Given the description of an element on the screen output the (x, y) to click on. 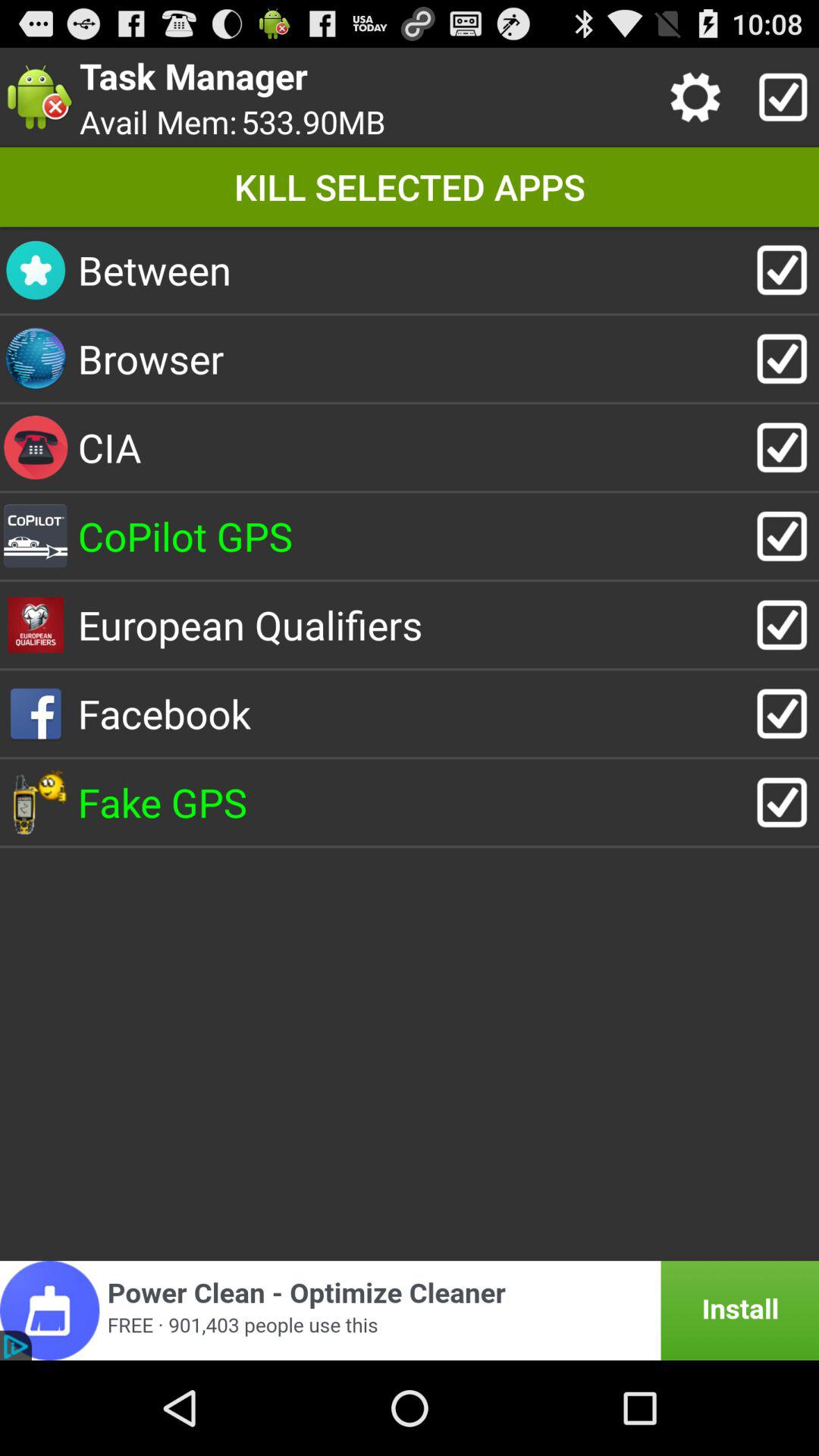
settings options (699, 97)
